Given the description of an element on the screen output the (x, y) to click on. 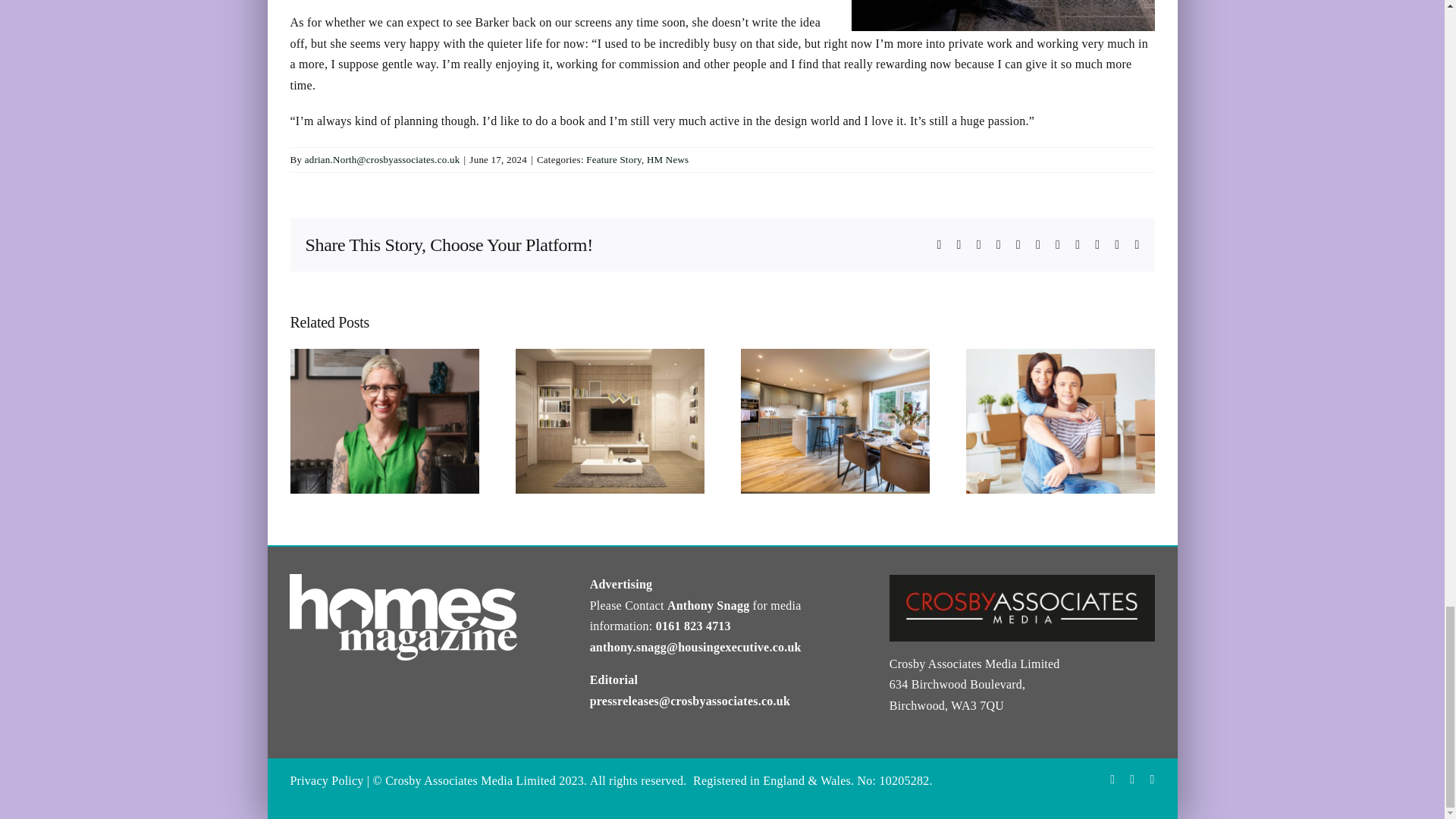
HM News (667, 159)
Feature Story (614, 159)
